Given the description of an element on the screen output the (x, y) to click on. 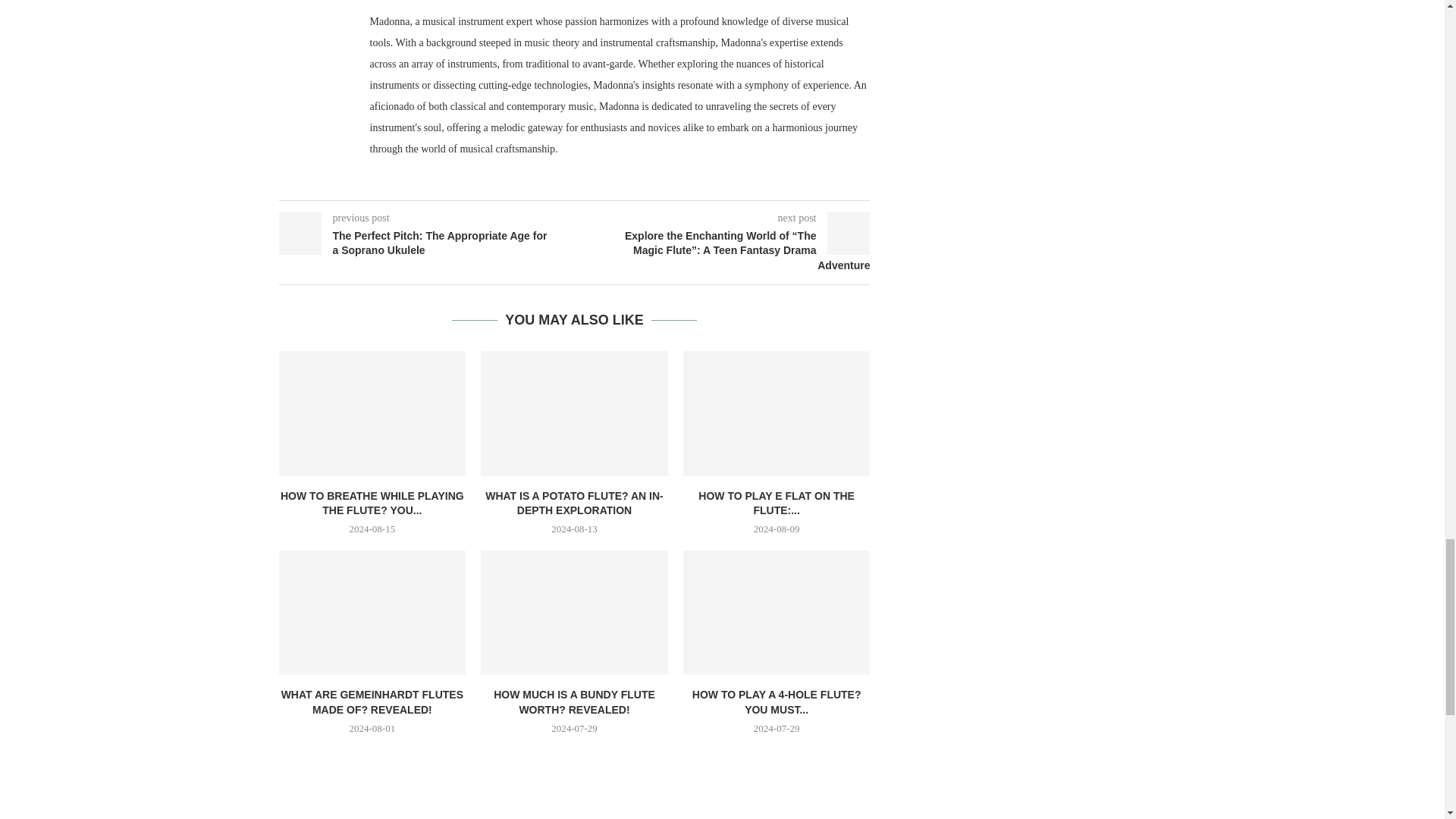
What is a Potato Flute? An In-Depth Exploration (574, 413)
What Are Gemeinhardt Flutes Made Of? Revealed! (372, 612)
How to Play a 4-Hole Flute? You Must Know (776, 612)
How to Breathe While Playing the Flute? You Must Know (372, 413)
How Much Is a Bundy Flute Worth? Revealed! (574, 612)
How to Play E Flat on the Flute: A Step-by-Step Instructions (776, 413)
